Given the description of an element on the screen output the (x, y) to click on. 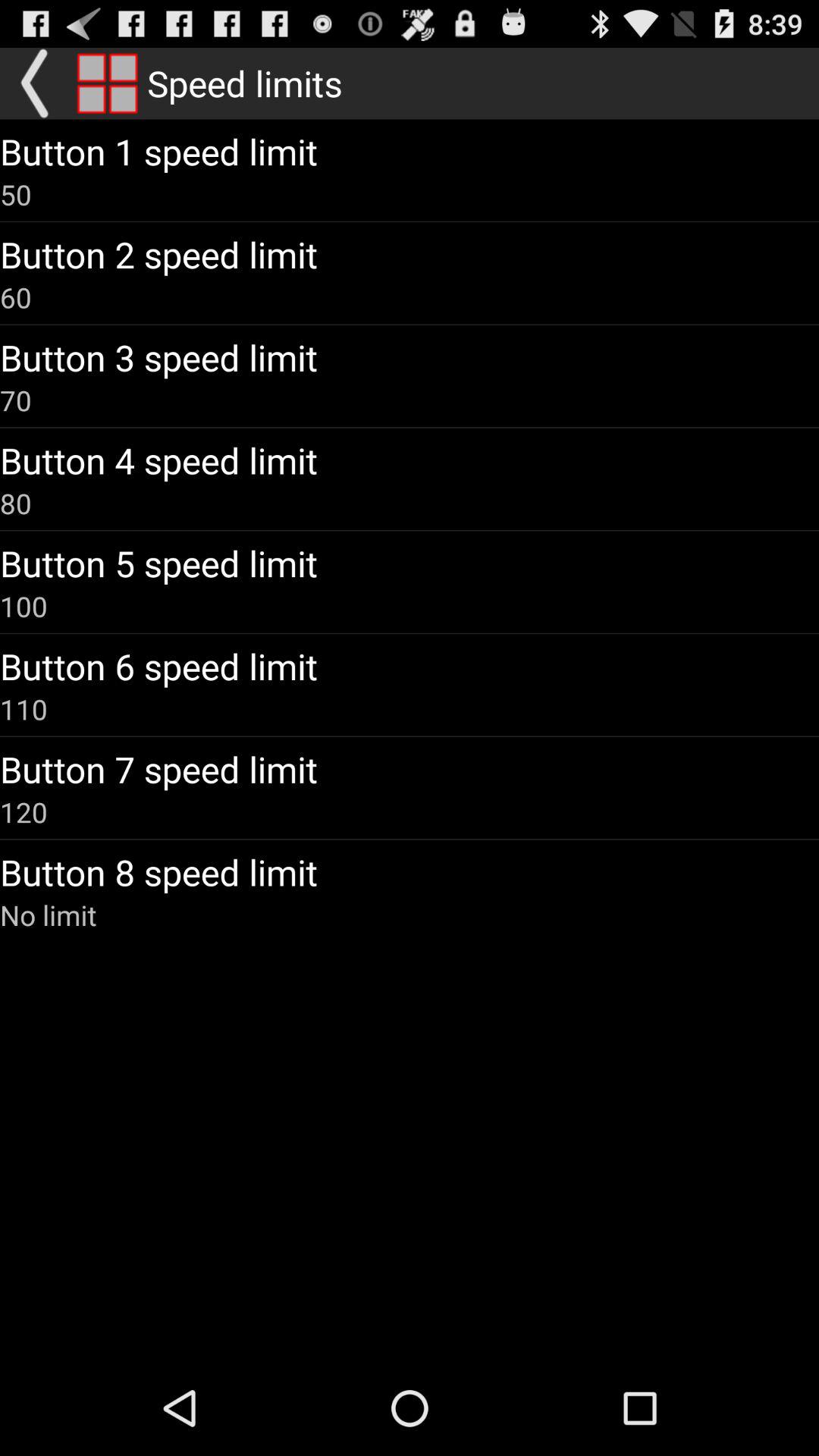
go back (35, 83)
